Given the description of an element on the screen output the (x, y) to click on. 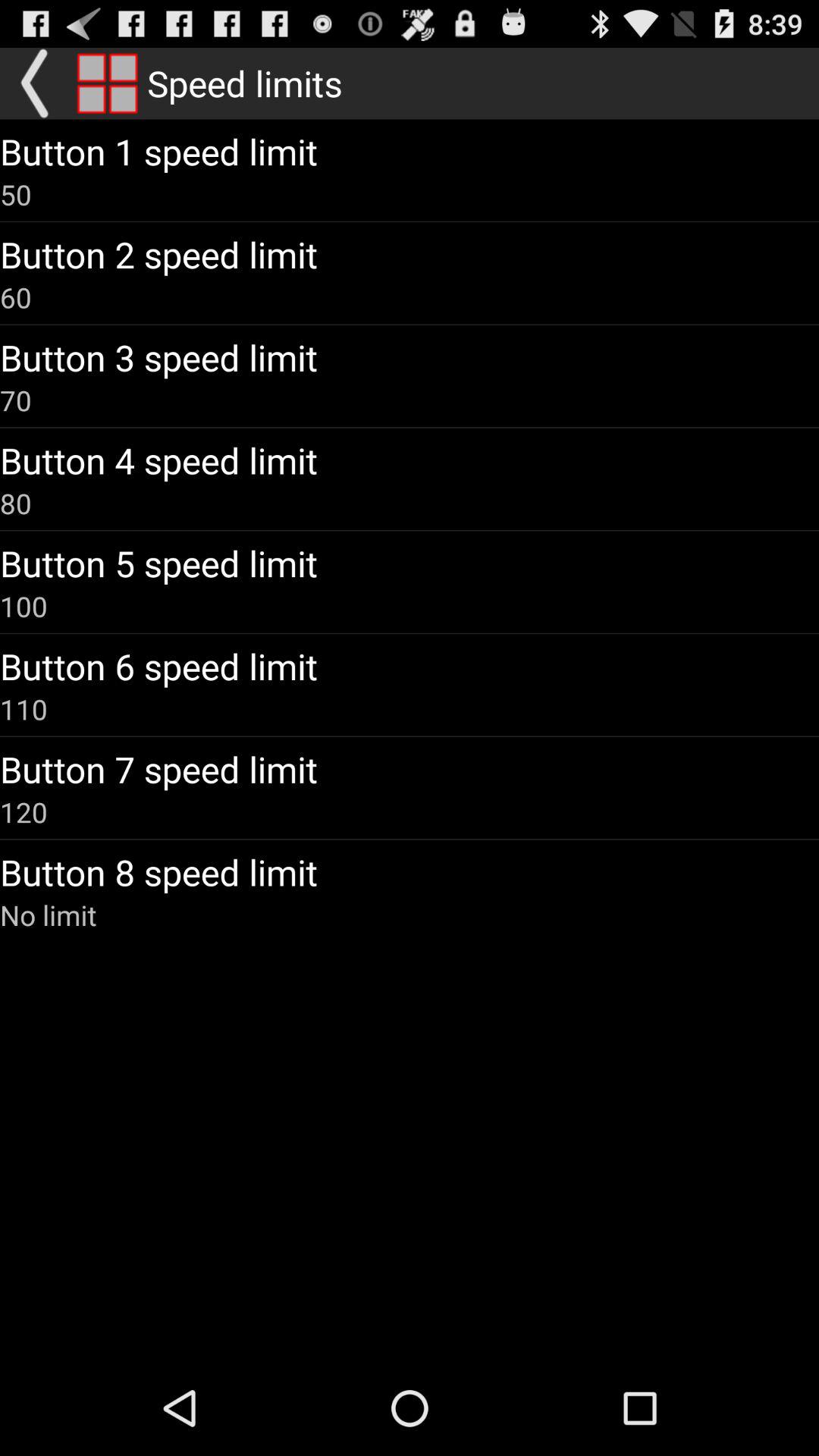
go back (35, 83)
